Given the description of an element on the screen output the (x, y) to click on. 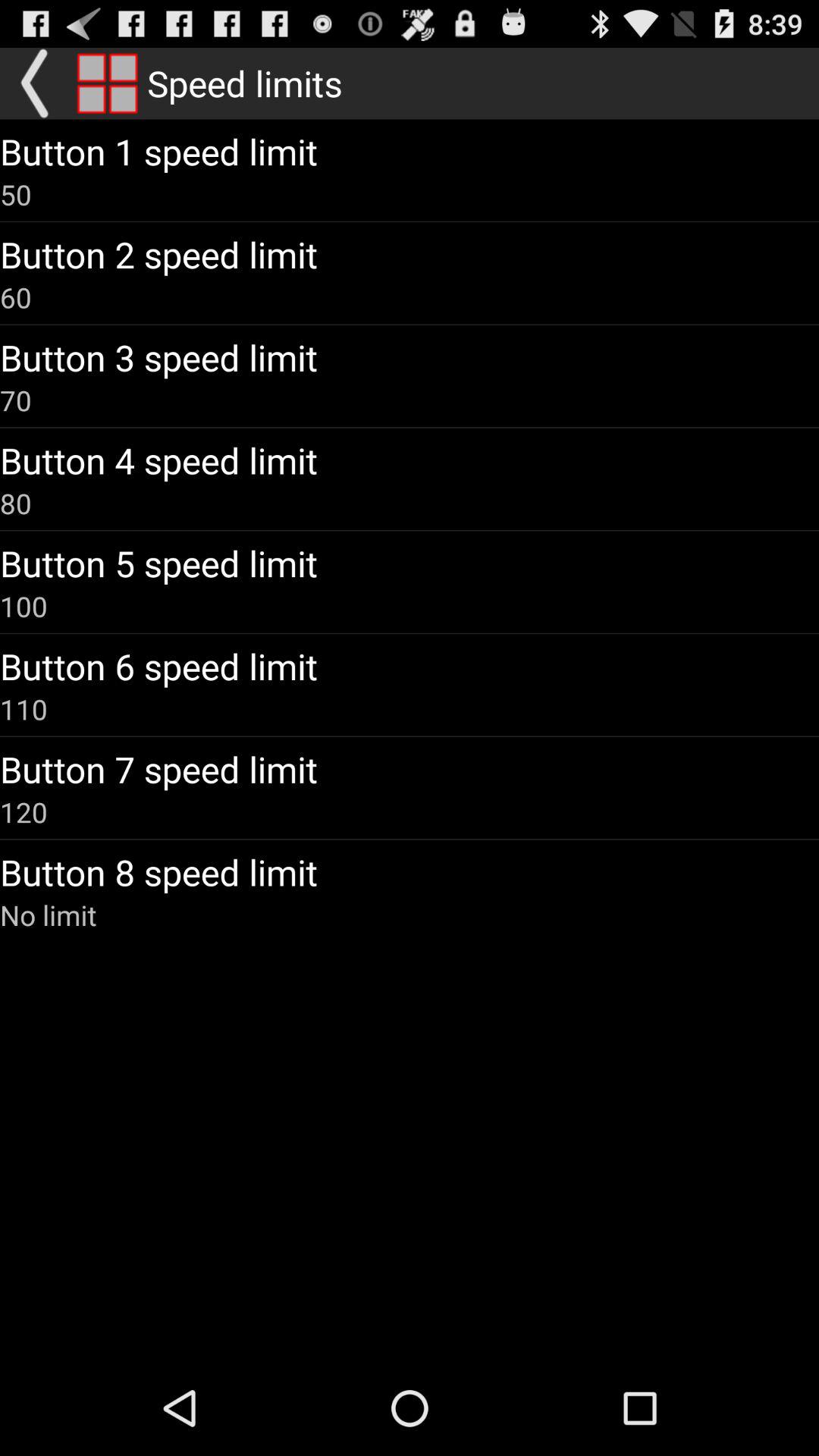
go back (35, 83)
